Given the description of an element on the screen output the (x, y) to click on. 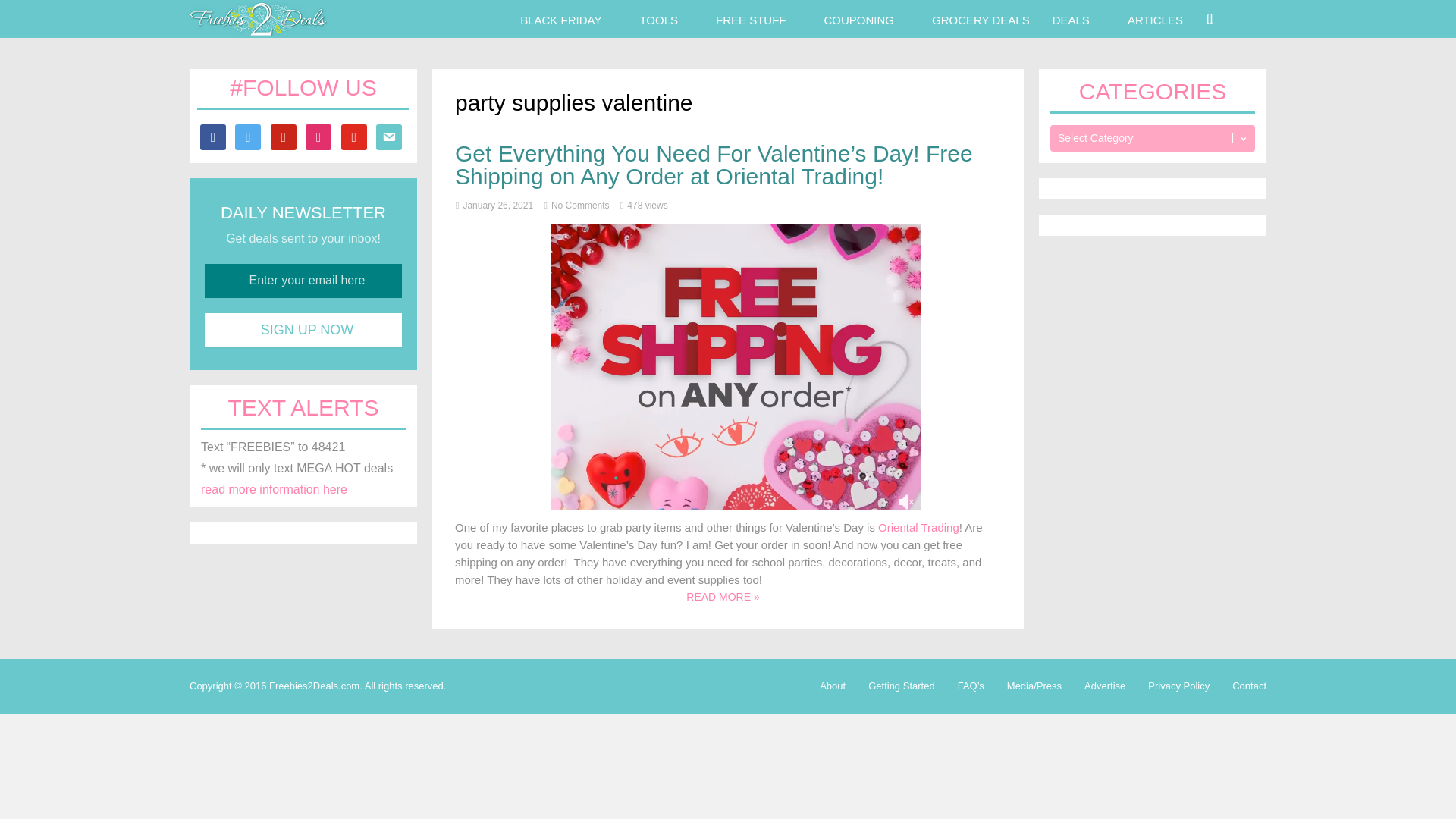
Instagram (318, 135)
TOOLS (658, 18)
BLACK FRIDAY (560, 18)
Follow Me (247, 135)
Sign Up Now (303, 329)
Freebies2Deals (257, 32)
Friend me on Facebook (212, 135)
